Given the description of an element on the screen output the (x, y) to click on. 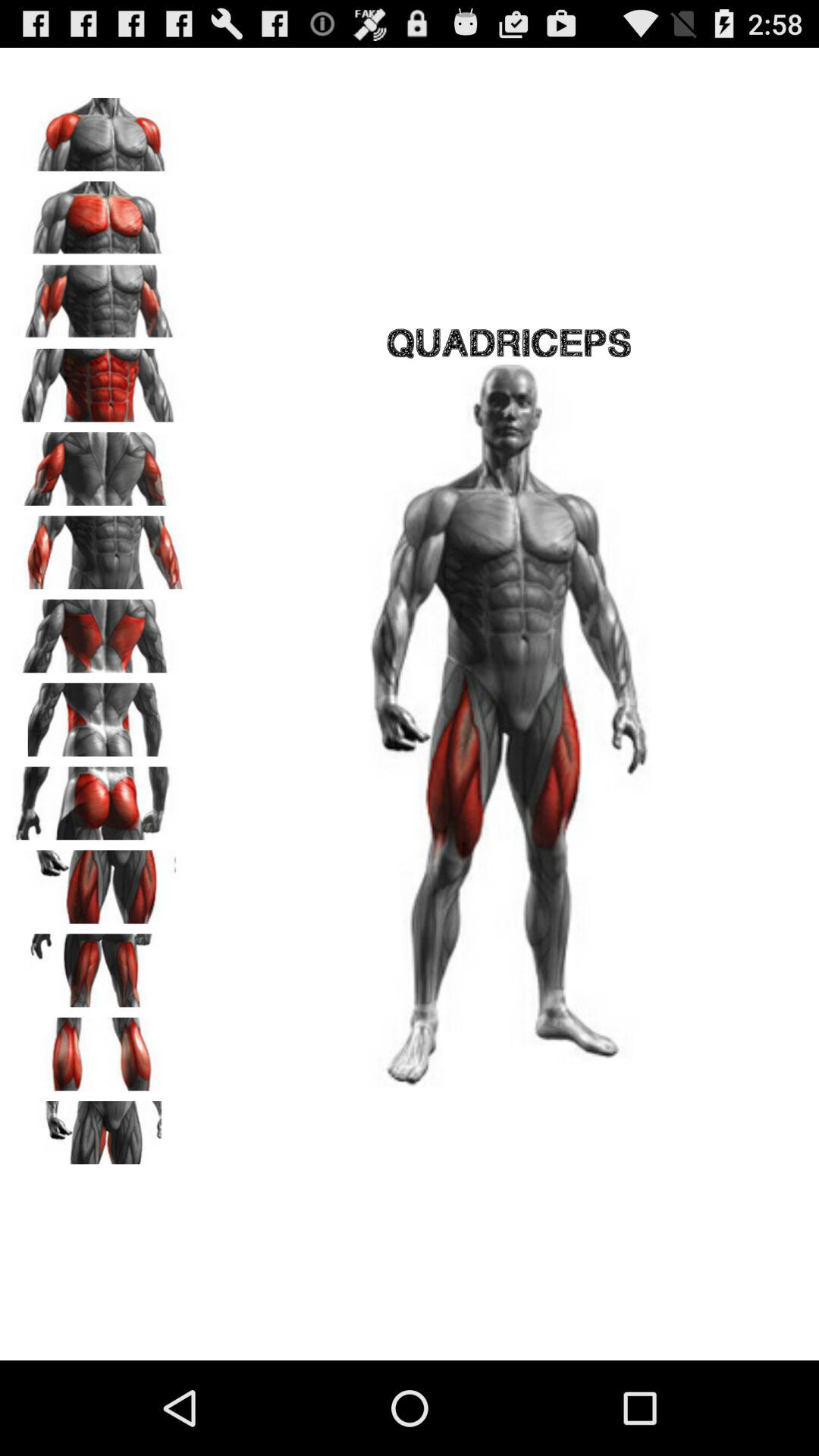
biceps workout (99, 296)
